Given the description of an element on the screen output the (x, y) to click on. 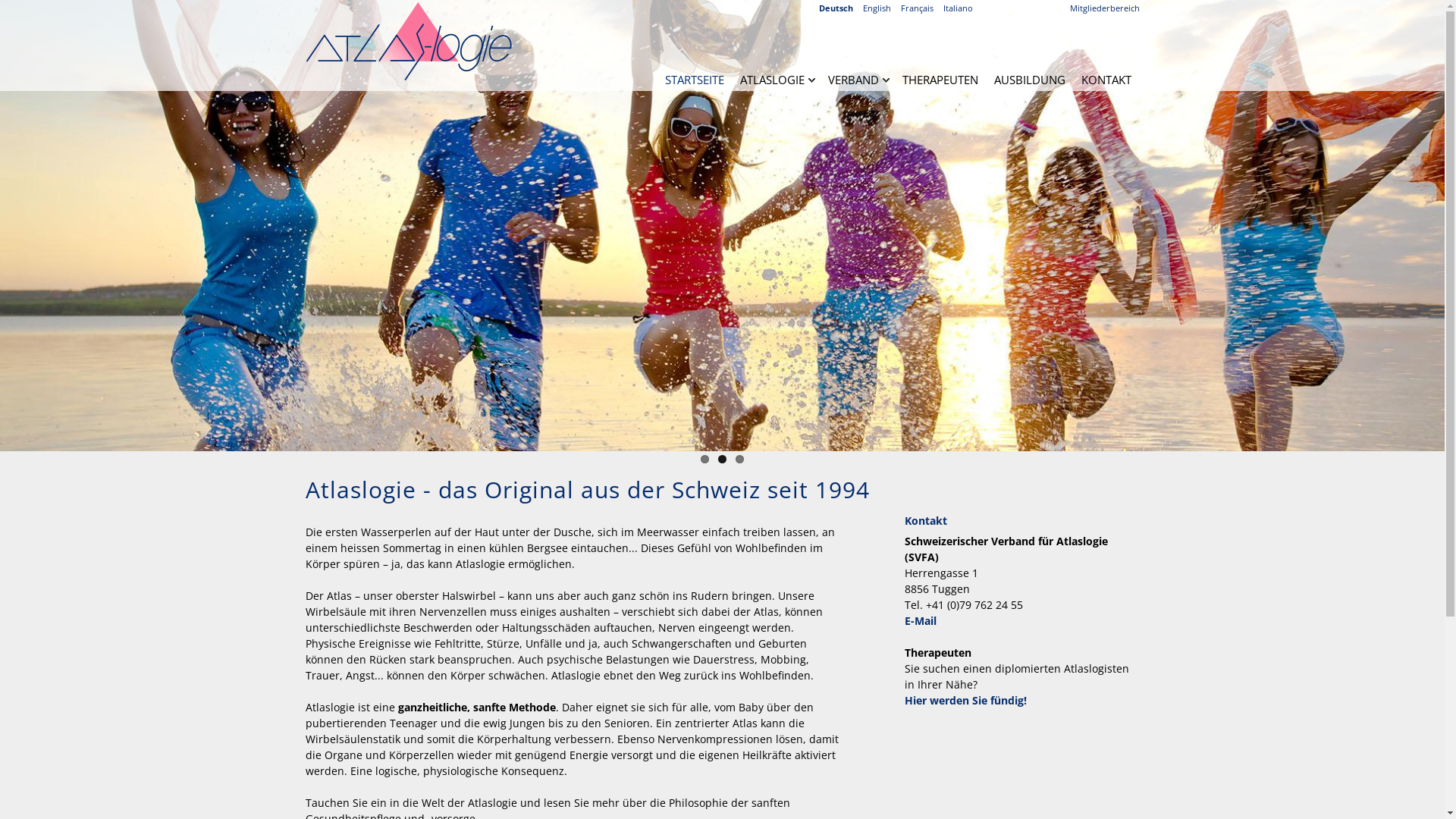
E-Mail Element type: text (919, 620)
THERAPEUTEN Element type: text (940, 79)
Deutsch Element type: text (839, 7)
English Element type: text (880, 7)
Italiano Element type: text (961, 7)
AUSBILDUNG Element type: text (1028, 79)
3 Element type: text (739, 459)
Mitgliederbereich Element type: text (1104, 7)
STARTSEITE Element type: text (693, 79)
1 Element type: text (704, 459)
2 Element type: text (722, 459)
VERBAND Element type: text (853, 79)
ATLASLOGIE Element type: text (772, 79)
KONTAKT Element type: text (1106, 79)
